Given the description of an element on the screen output the (x, y) to click on. 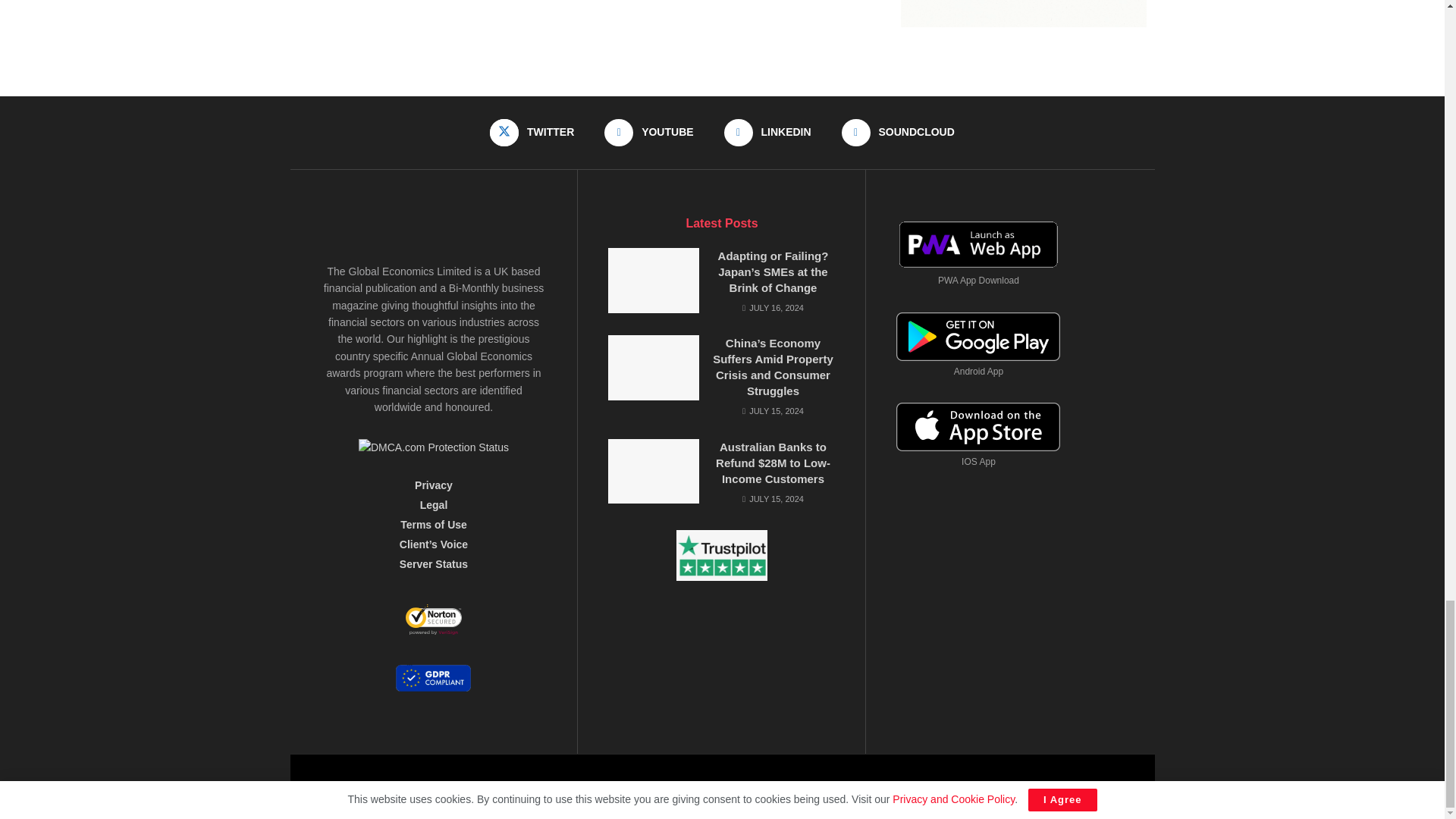
The Global Economics UK (895, 785)
DMCA.com Protection Status (433, 446)
Norton Verified (433, 623)
